Given the description of an element on the screen output the (x, y) to click on. 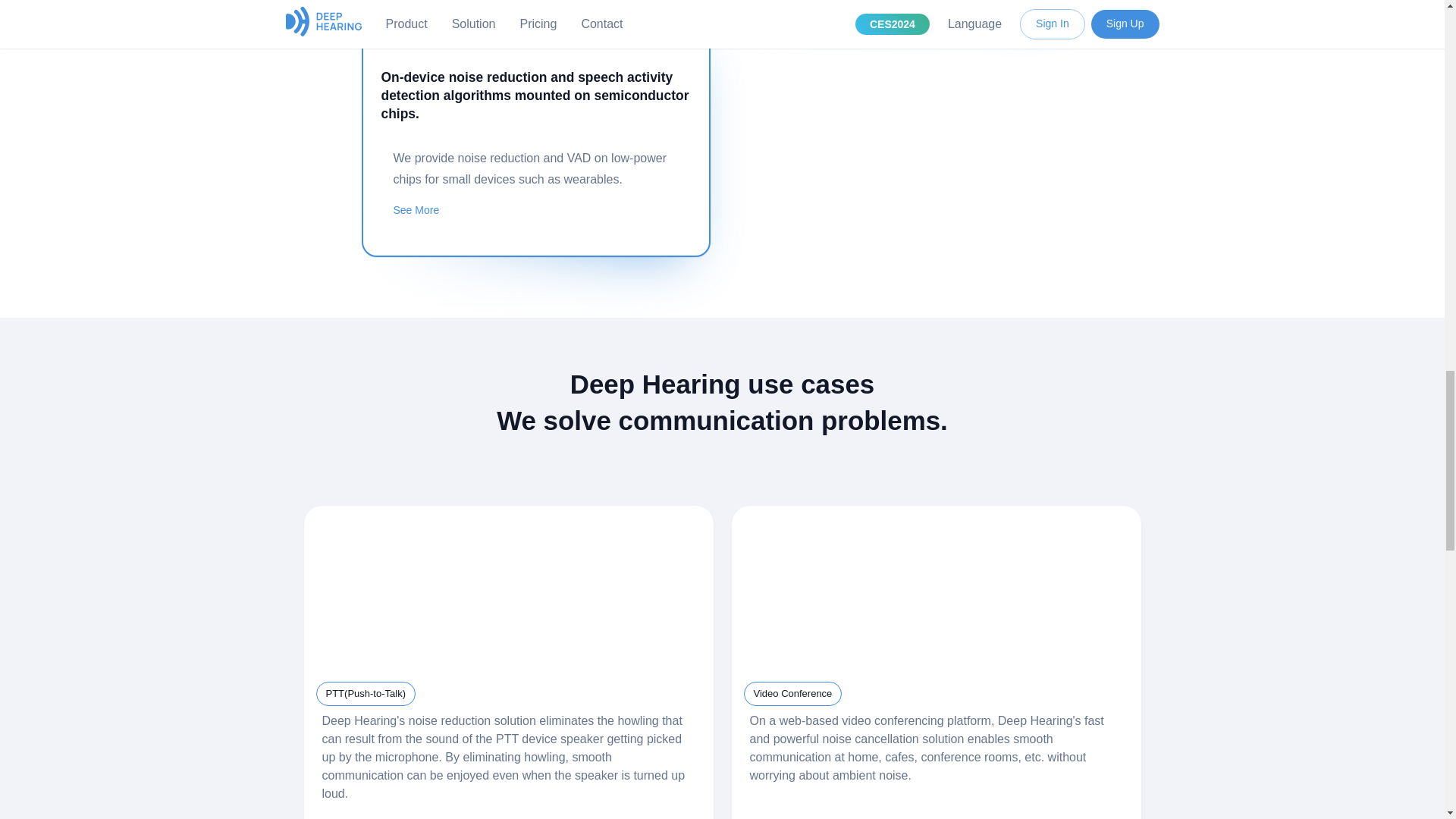
See More (535, 210)
